Given the description of an element on the screen output the (x, y) to click on. 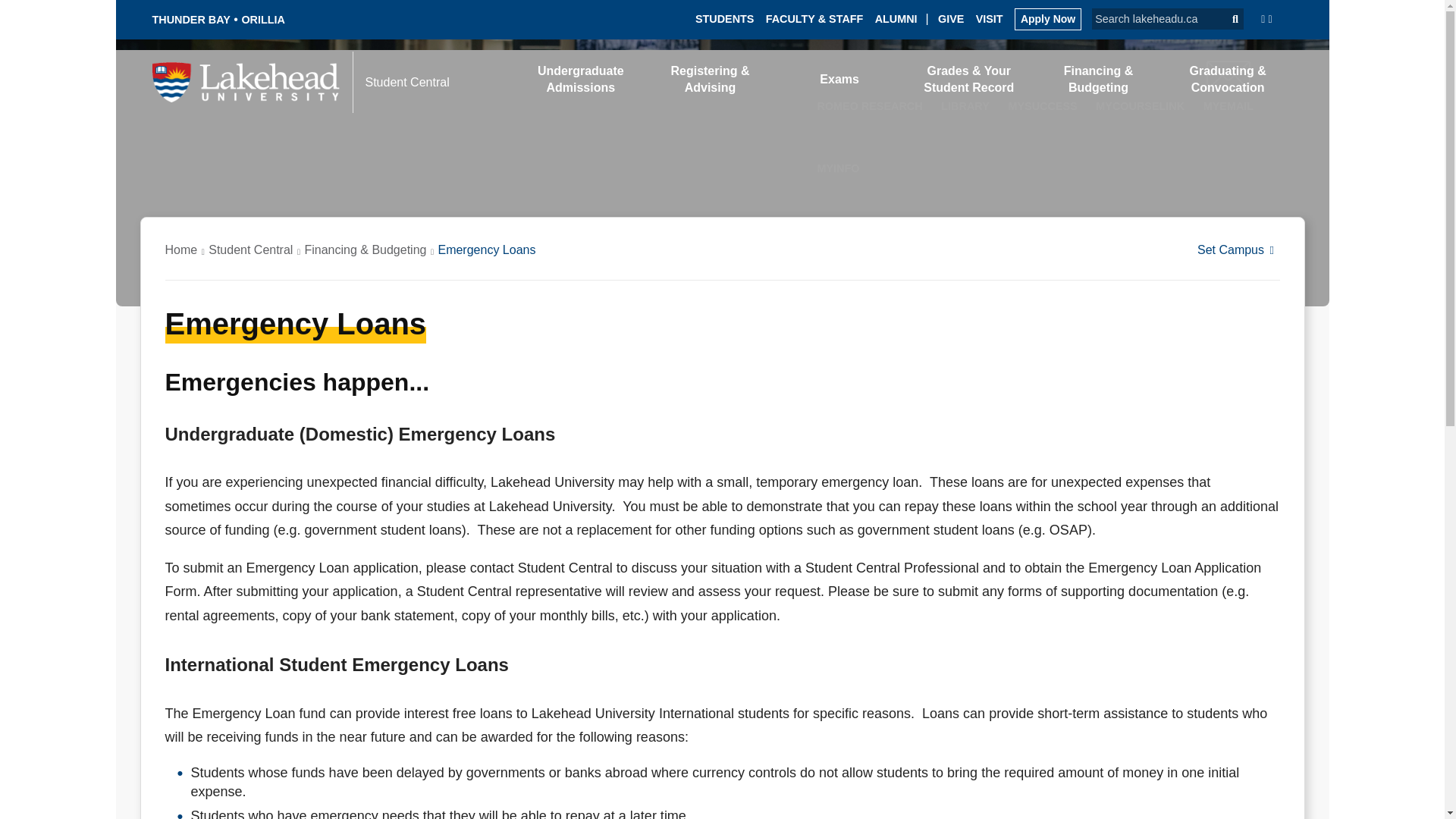
Search (1227, 18)
MYSUCCESS (1042, 82)
Apply Now (1047, 19)
Support Lakehead University, make a Donation (950, 18)
MYCOURSELINK (1140, 80)
STUDENTS (724, 18)
Undergraduate Admissions (581, 79)
GIVE (950, 18)
Change Campus Preference (1237, 249)
